Given the description of an element on the screen output the (x, y) to click on. 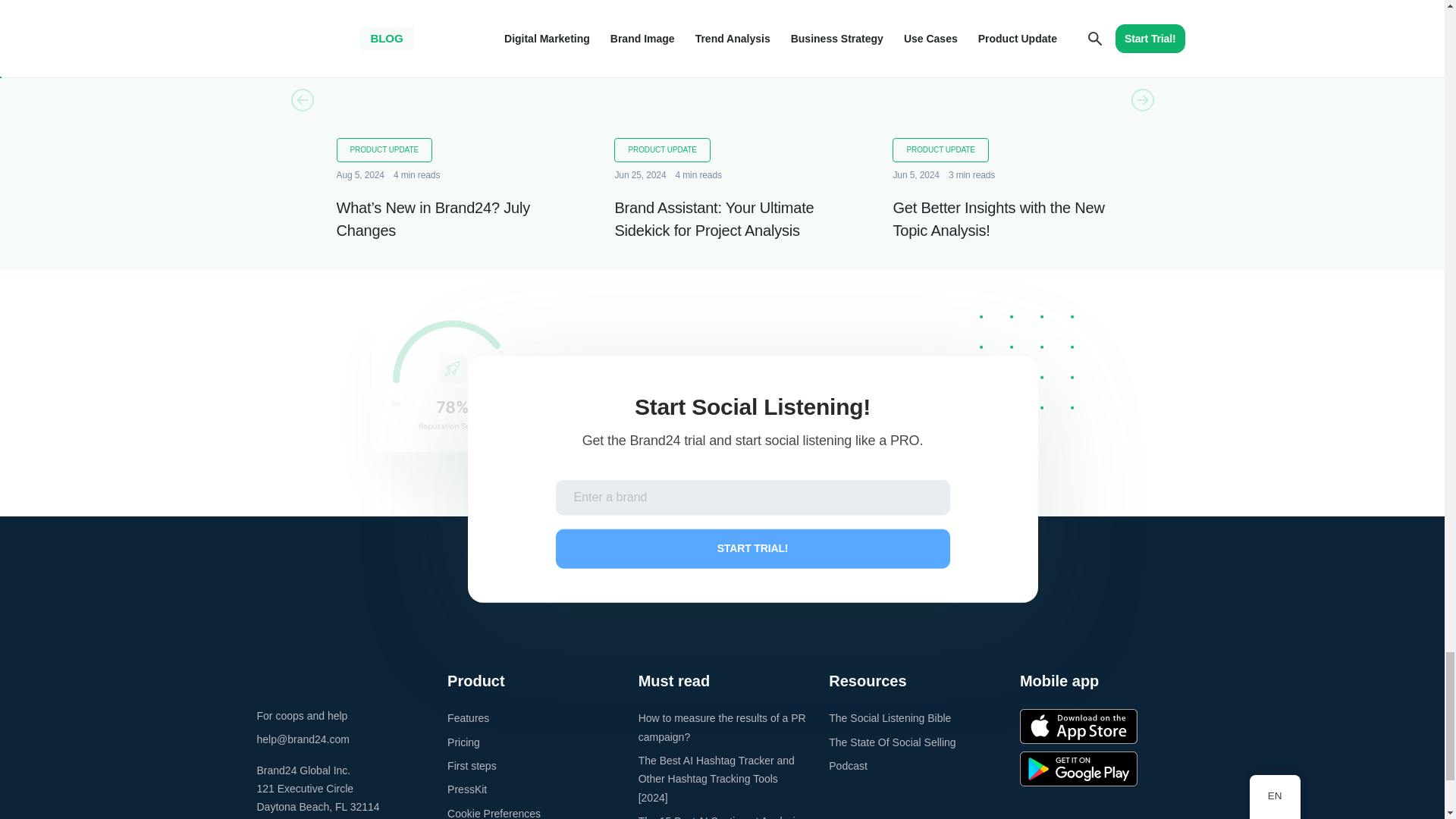
Get Better Insights with the New Topic Analysis! (997, 219)
Brand Assistant: Your Ultimate Sidekick for Project Analysis (713, 219)
Brand Assistant: Your Ultimate Sidekick for Project Analysis (721, 75)
Get Better Insights with the New Topic Analysis! (1000, 75)
